Given the description of an element on the screen output the (x, y) to click on. 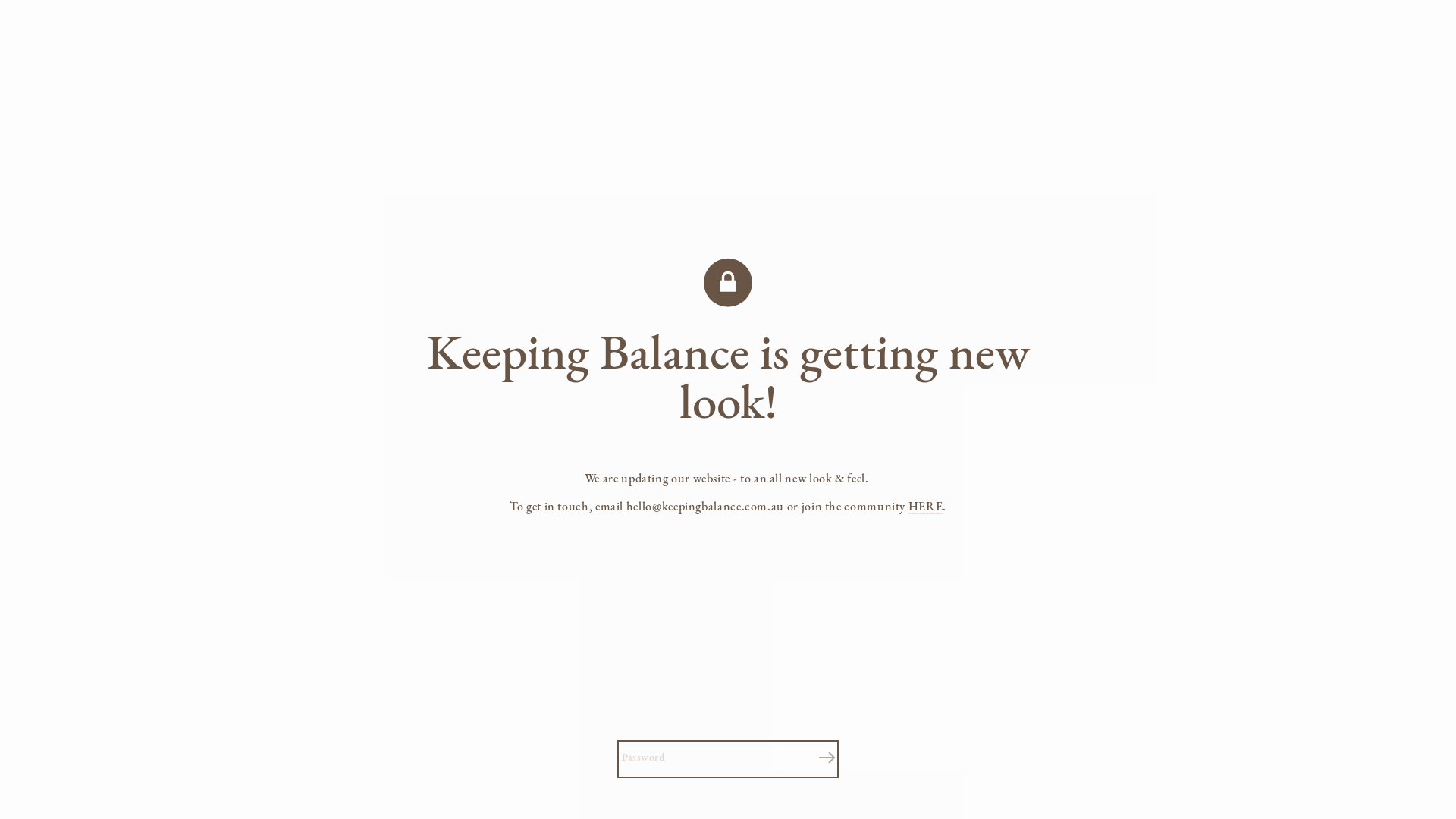
HERE Element type: text (925, 506)
